Given the description of an element on the screen output the (x, y) to click on. 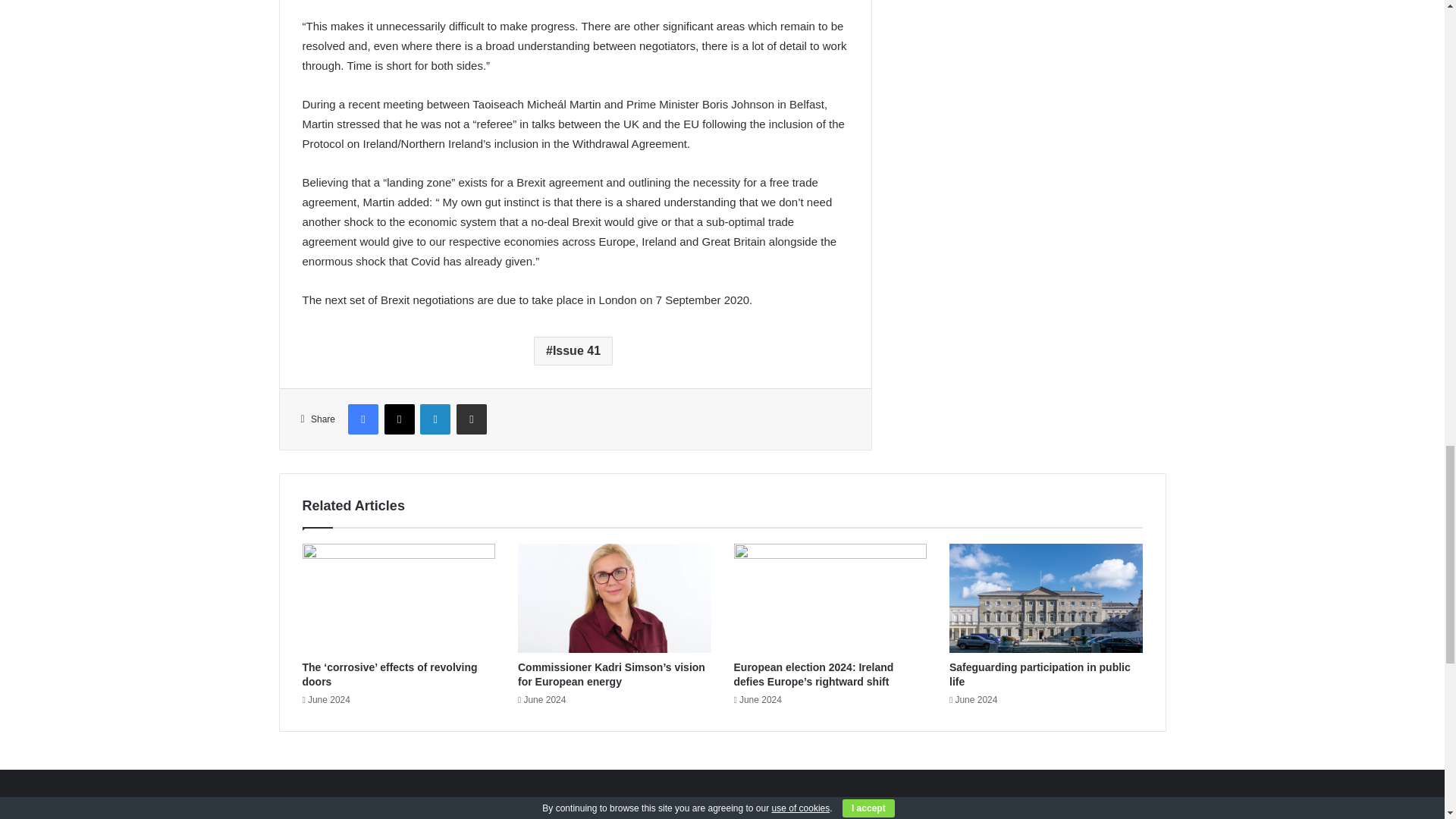
X (399, 419)
Facebook (362, 419)
LinkedIn (434, 419)
Facebook (362, 419)
X (399, 419)
Share via Email (471, 419)
Issue 41 (573, 350)
Share via Email (471, 419)
LinkedIn (434, 419)
